Given the description of an element on the screen output the (x, y) to click on. 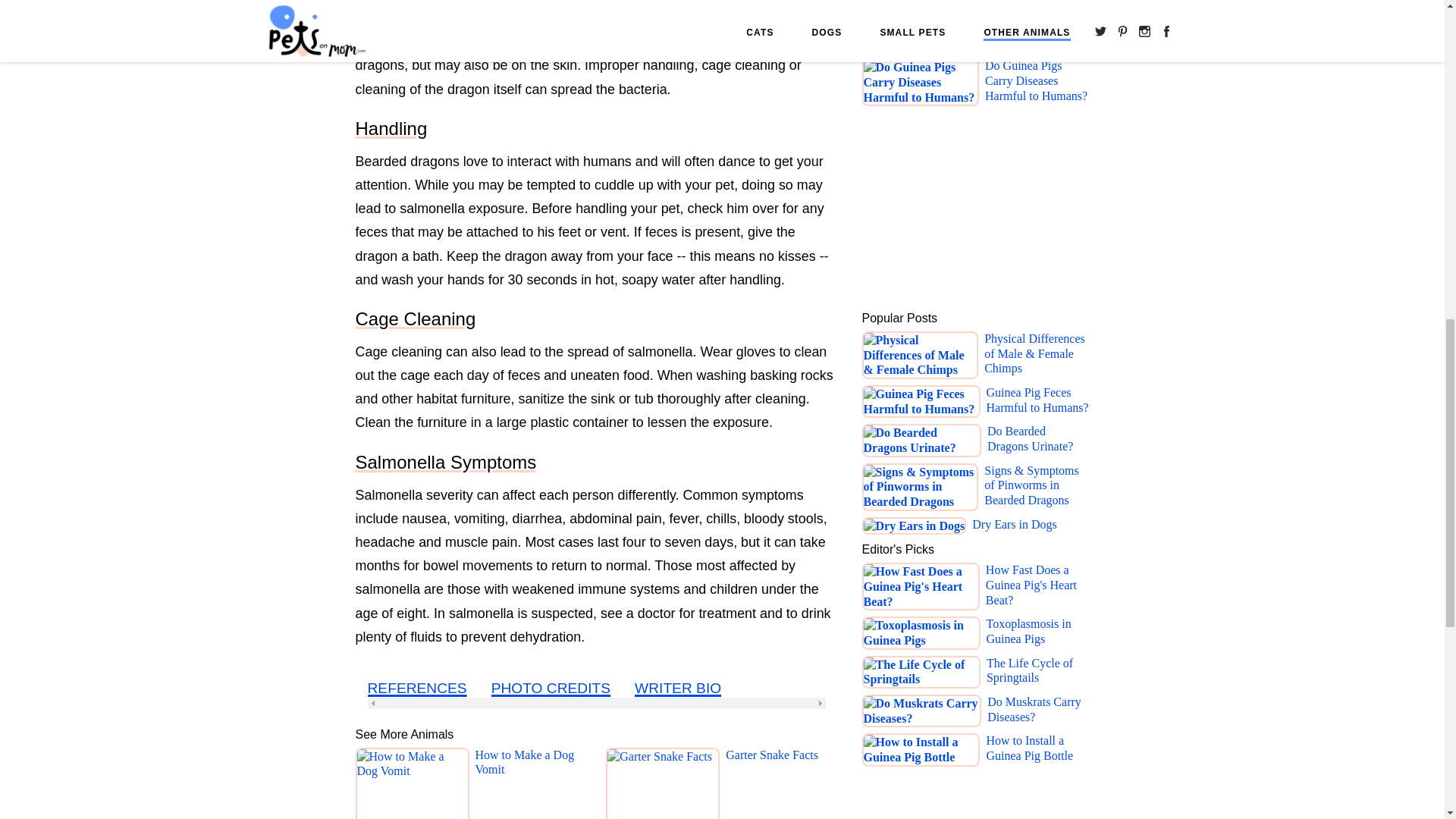
Garter Snake Facts (771, 783)
How to Make a Dog Vomit (530, 783)
